Given the description of an element on the screen output the (x, y) to click on. 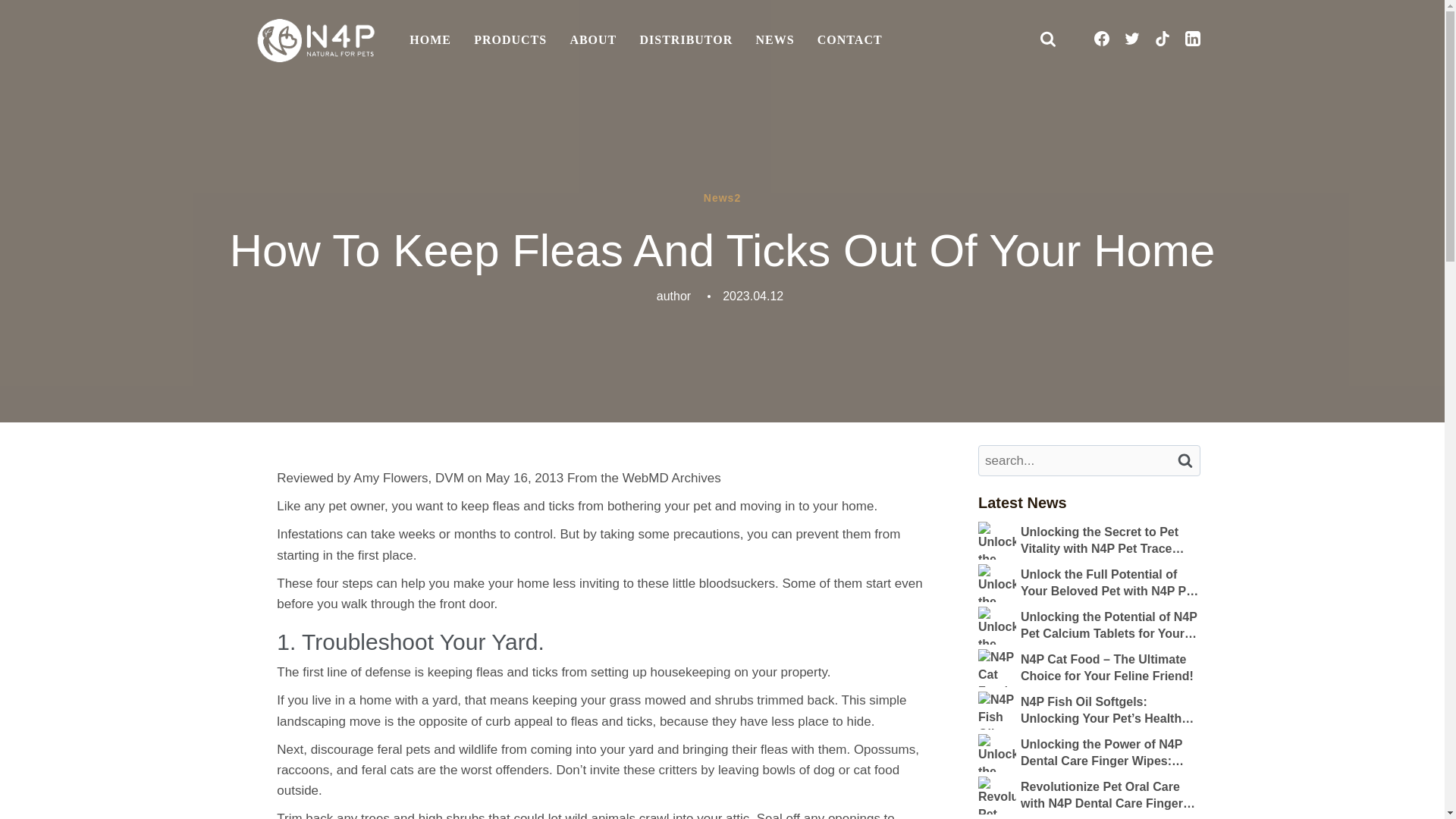
ABOUT (592, 40)
HOME (430, 40)
search (1184, 459)
CONTACT (849, 40)
DISTRIBUTOR (685, 40)
N4P Natural for Pets (314, 40)
News2 (722, 198)
